Given the description of an element on the screen output the (x, y) to click on. 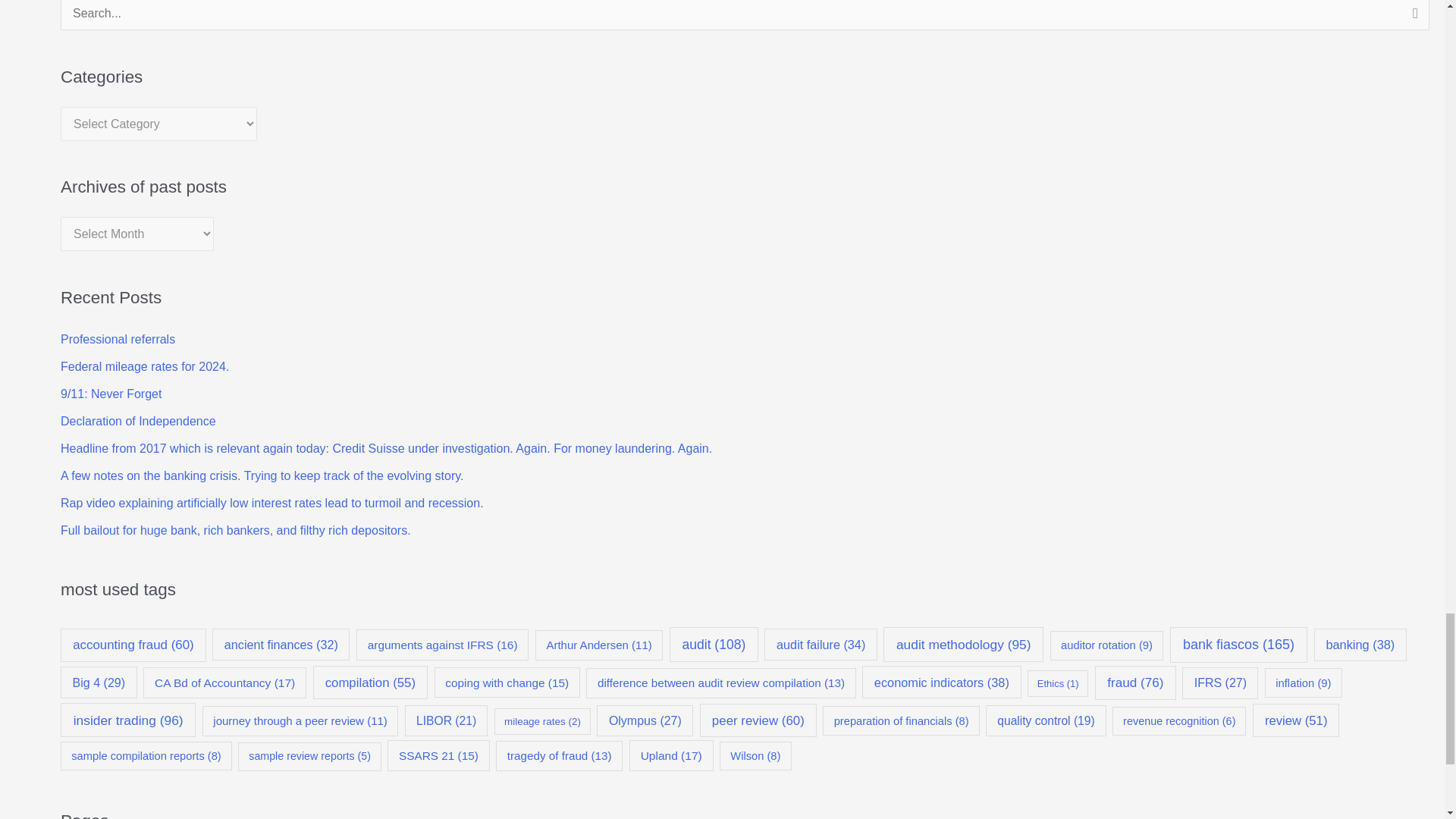
Professional referrals (117, 338)
Declaration of Independence (138, 420)
Federal mileage rates for 2024. (144, 366)
